Given the description of an element on the screen output the (x, y) to click on. 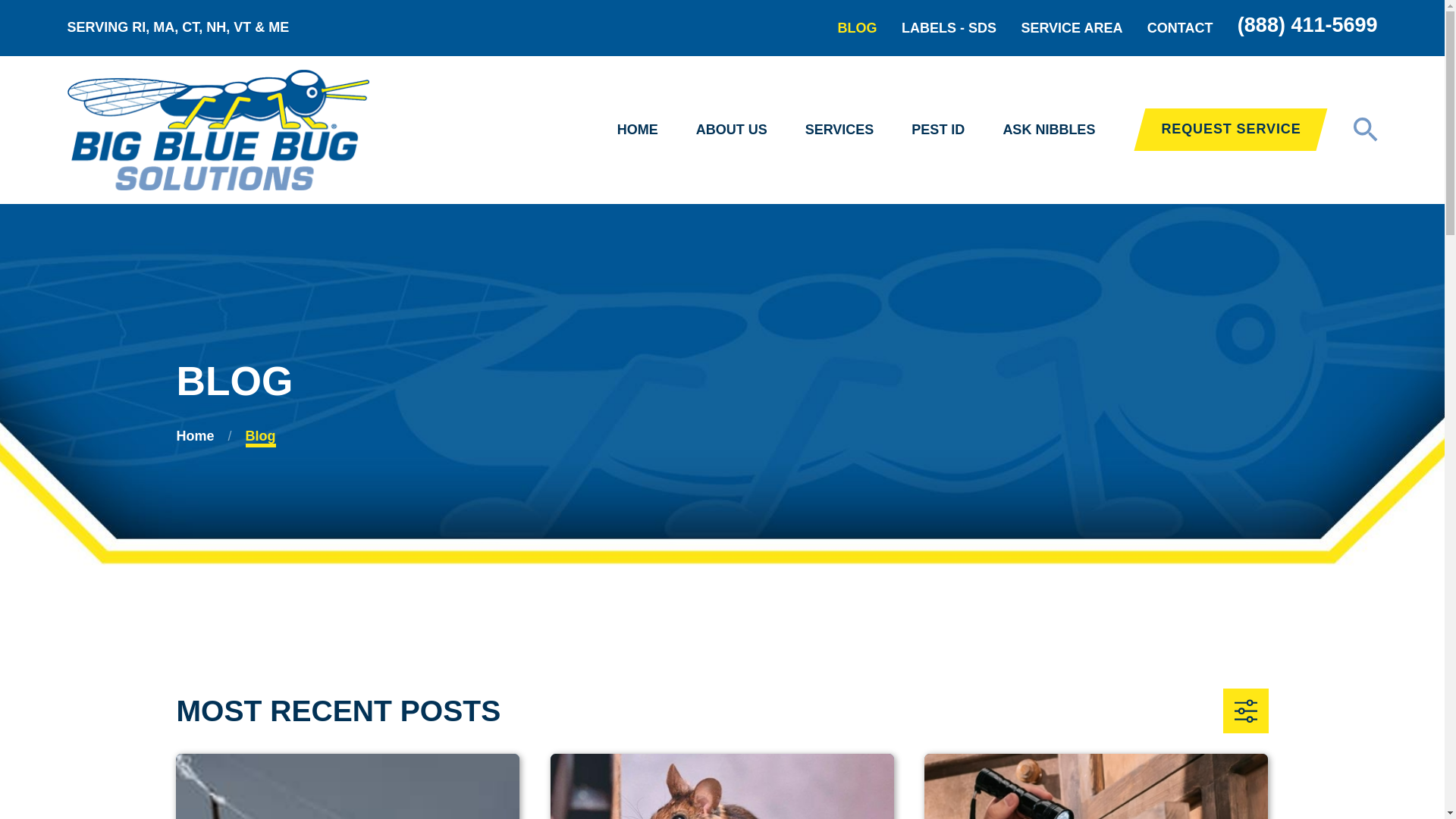
BLOG (857, 28)
PEST ID (937, 129)
LABELS - SDS (948, 28)
Home (217, 129)
CONTACT (1179, 28)
Go Home (195, 435)
SERVICE AREA (1071, 28)
Blog Menu (1245, 710)
ABOUT US (731, 129)
SERVICES (840, 129)
